Given the description of an element on the screen output the (x, y) to click on. 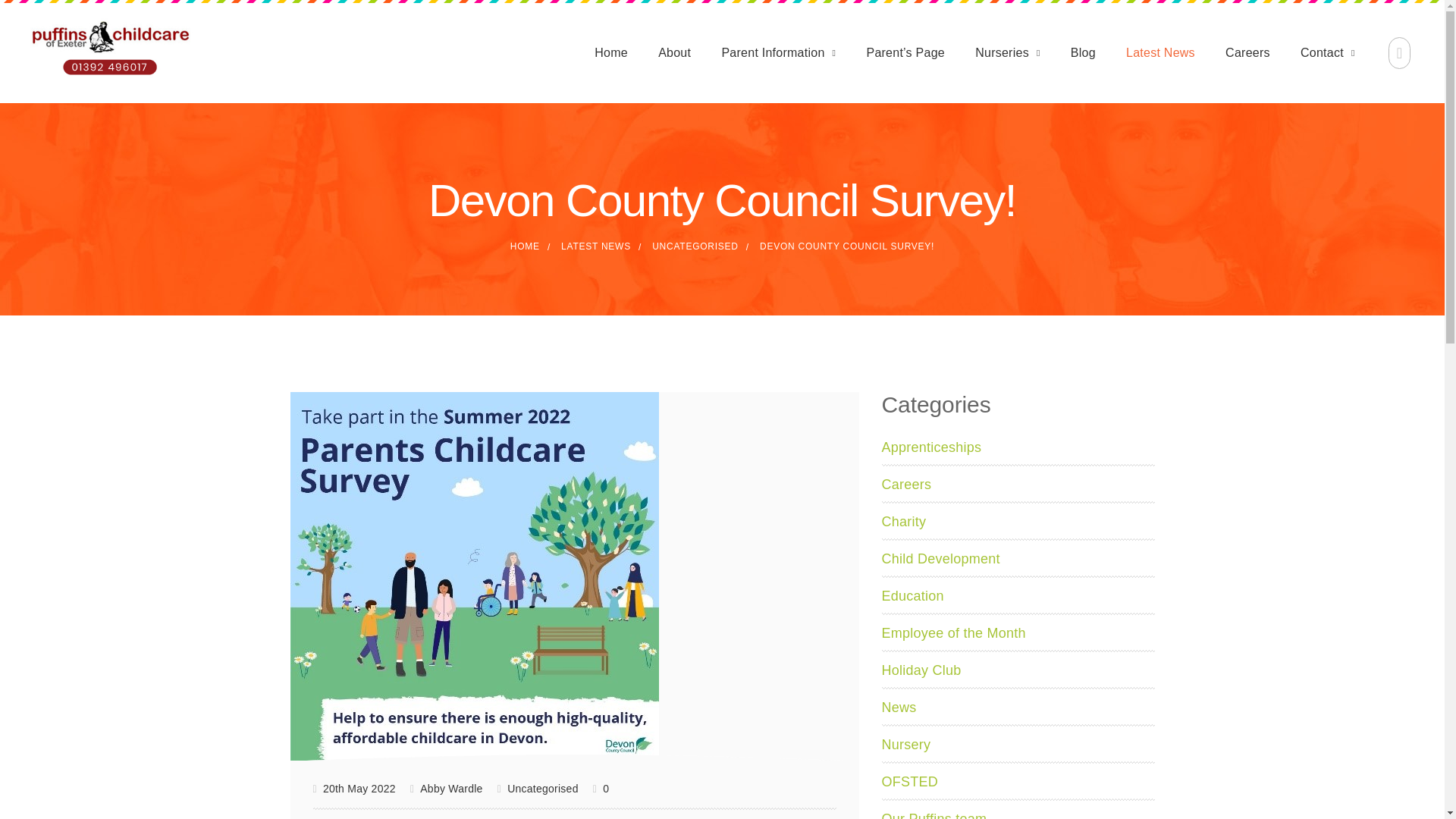
Parent Information (777, 52)
Careers (1247, 52)
Contact (1327, 52)
Puffins of Exeter Childcare (525, 246)
About (674, 52)
Latest News (1160, 52)
LATEST NEWS (595, 246)
UNCATEGORISED (695, 246)
